Given the description of an element on the screen output the (x, y) to click on. 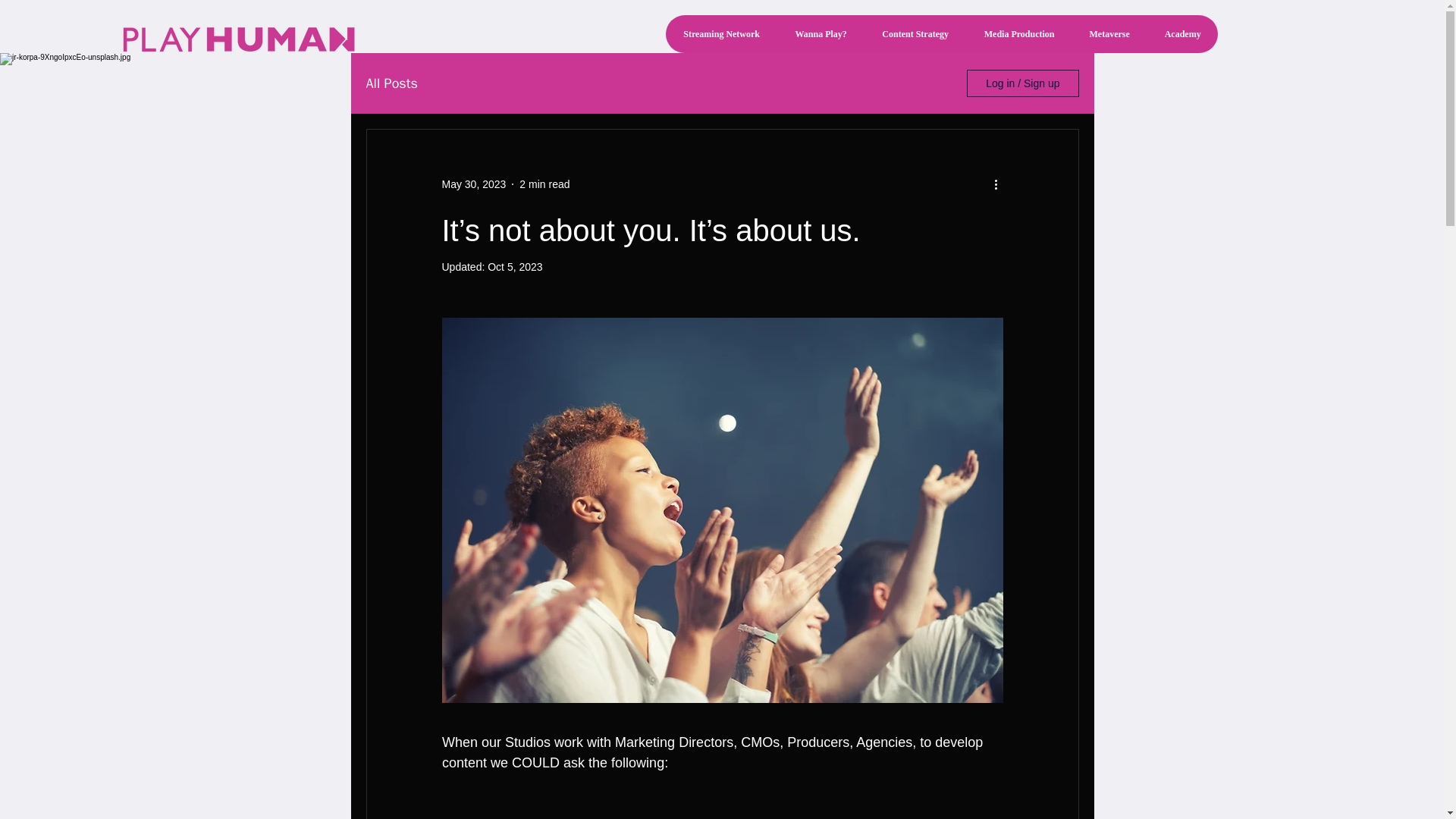
Content Strategy (914, 34)
Metaverse (1109, 34)
PlayHuman - Text Logo - png white.png (238, 38)
2 min read (544, 183)
May 30, 2023 (473, 183)
Oct 5, 2023 (514, 266)
Streaming Network (721, 34)
Academy (1182, 34)
Media Production (1018, 34)
All Posts (390, 83)
